Given the description of an element on the screen output the (x, y) to click on. 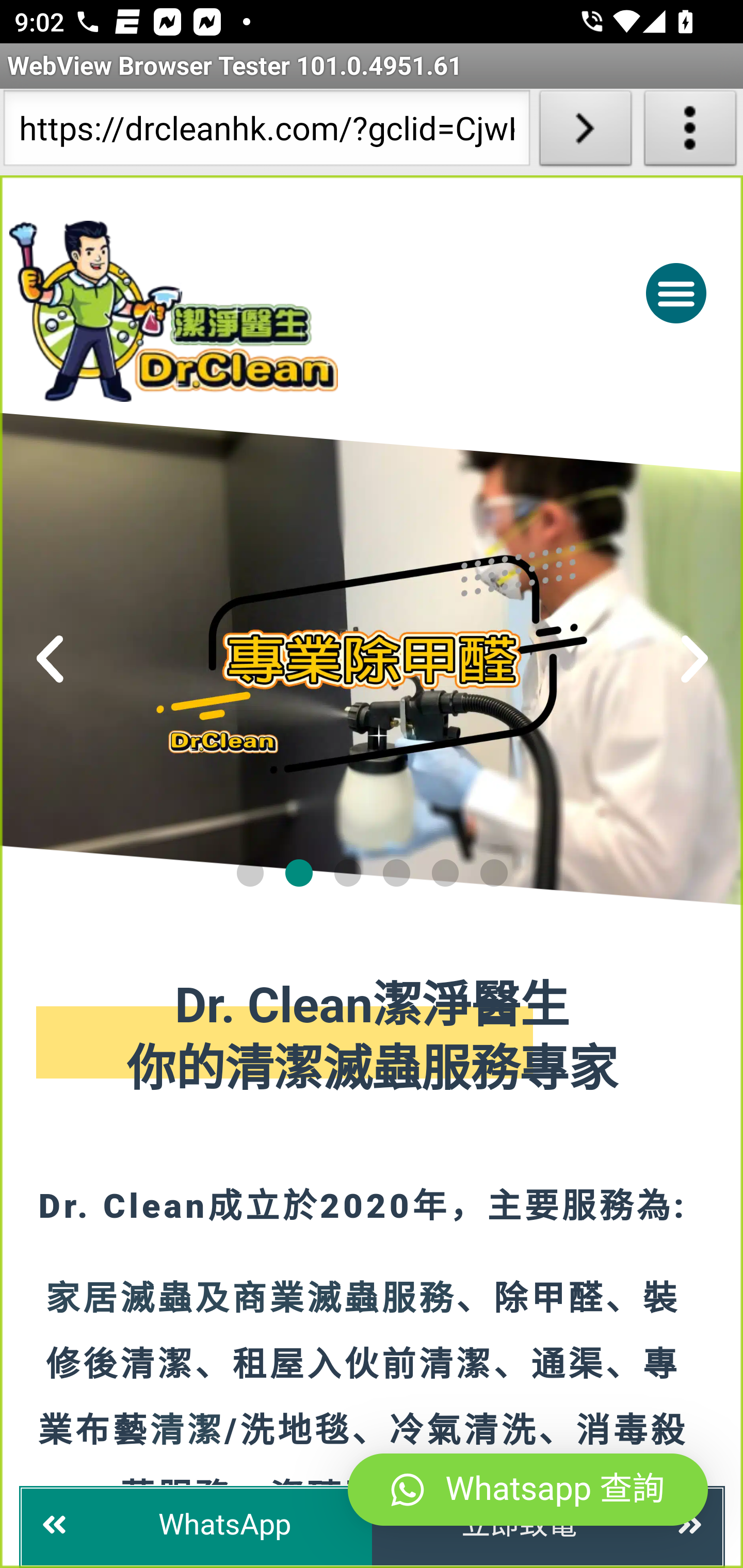
Load URL (585, 132)
About WebView (690, 132)
drcleanhk (254, 309)
Menu Toggle (675, 292)
Previous slide (50, 659)
Next slide (694, 659)
Go to slide 1 (248, 872)
Go to slide 2 (299, 872)
Go to slide 3 (347, 872)
Go to slide 4 (396, 872)
Go to slide 5 (444, 872)
Go to slide 6 (494, 872)
Dr. Clean潔淨醫生 你的清潔滅蟲服務專家 (372, 1038)
 Whatsapp 查詢 (527, 1490)
